Given the description of an element on the screen output the (x, y) to click on. 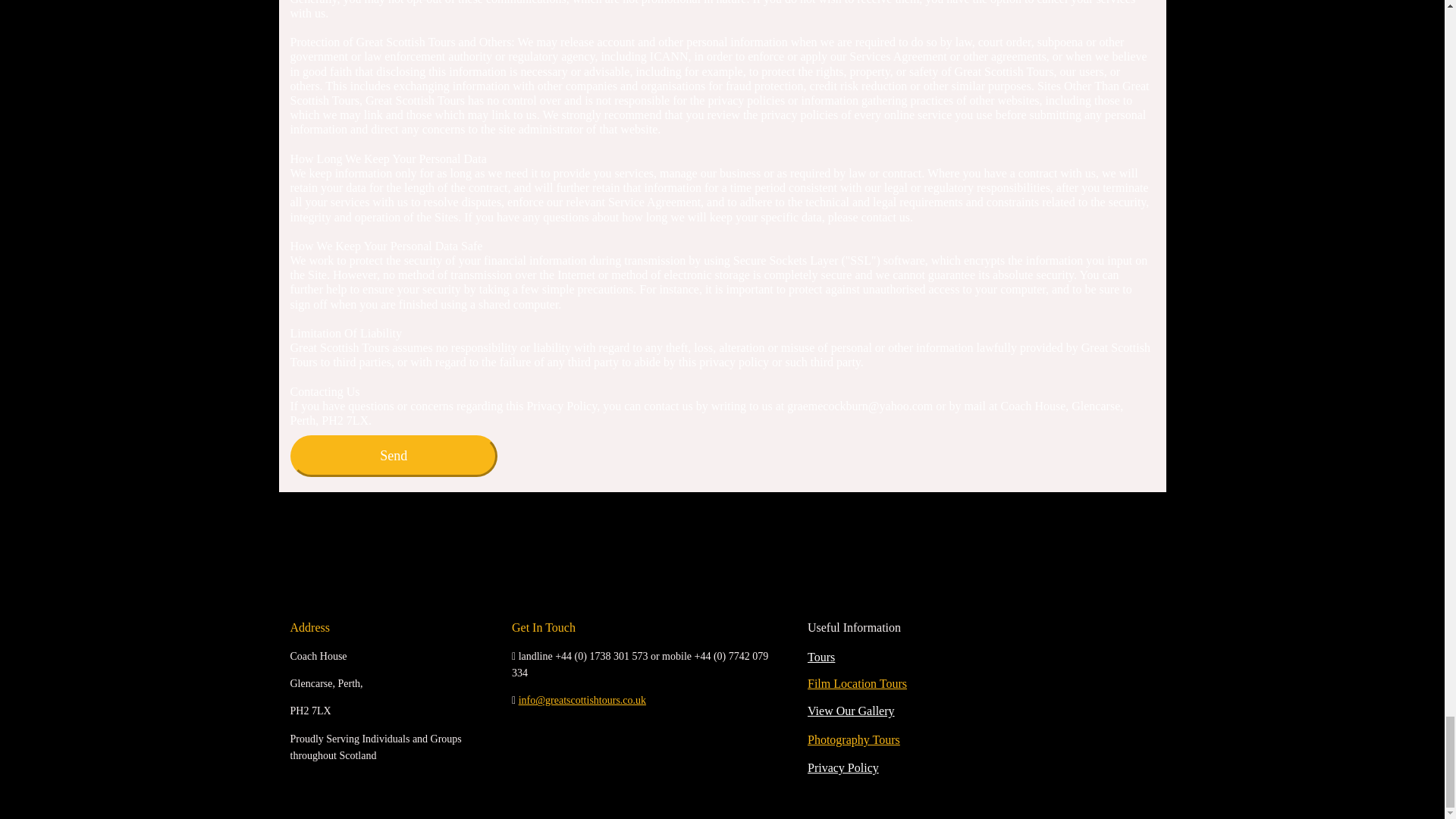
Send (393, 455)
